Given the description of an element on the screen output the (x, y) to click on. 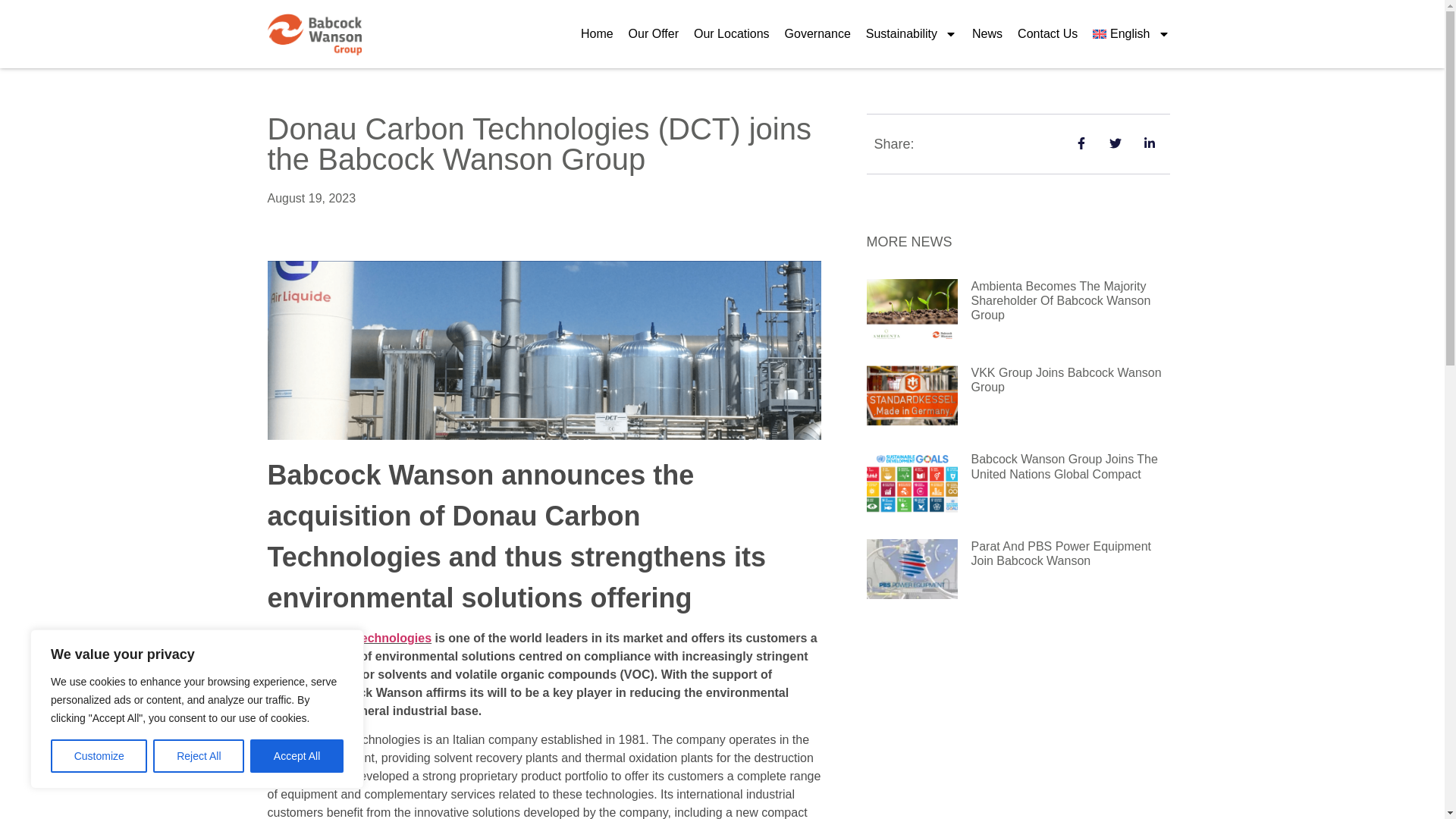
English (1130, 33)
Contact Us (1047, 33)
News (986, 33)
Sustainability (911, 33)
Customize (98, 756)
Our Locations (731, 33)
Accept All (296, 756)
Reject All (198, 756)
Our Offer (653, 33)
English (1130, 33)
Governance (818, 33)
Home (597, 33)
